Given the description of an element on the screen output the (x, y) to click on. 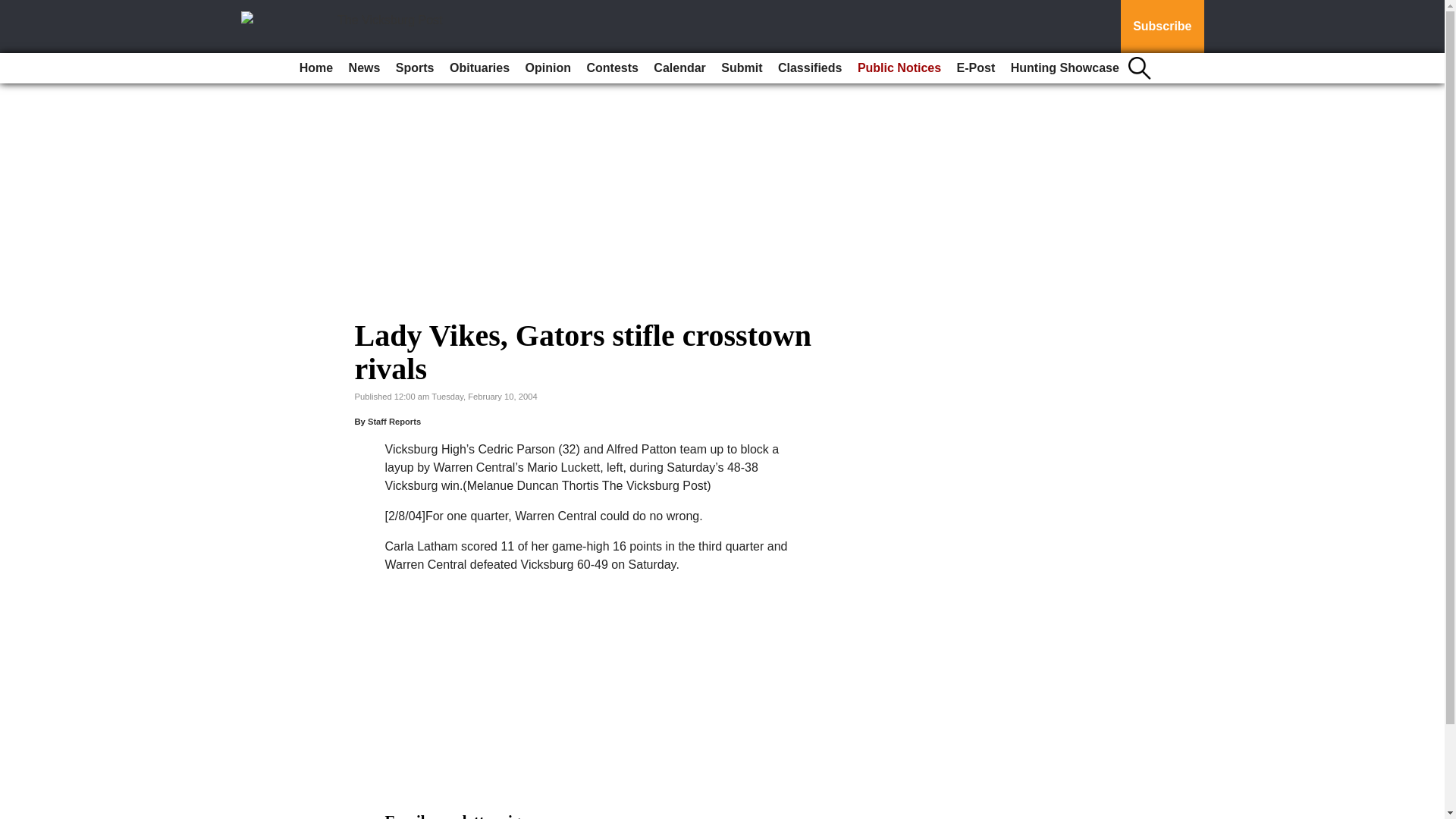
Obituaries (479, 68)
E-Post (975, 68)
Subscribe (1162, 26)
Opinion (547, 68)
Public Notices (899, 68)
Contests (611, 68)
Submit (741, 68)
Calendar (679, 68)
Home (316, 68)
Go (13, 9)
